Given the description of an element on the screen output the (x, y) to click on. 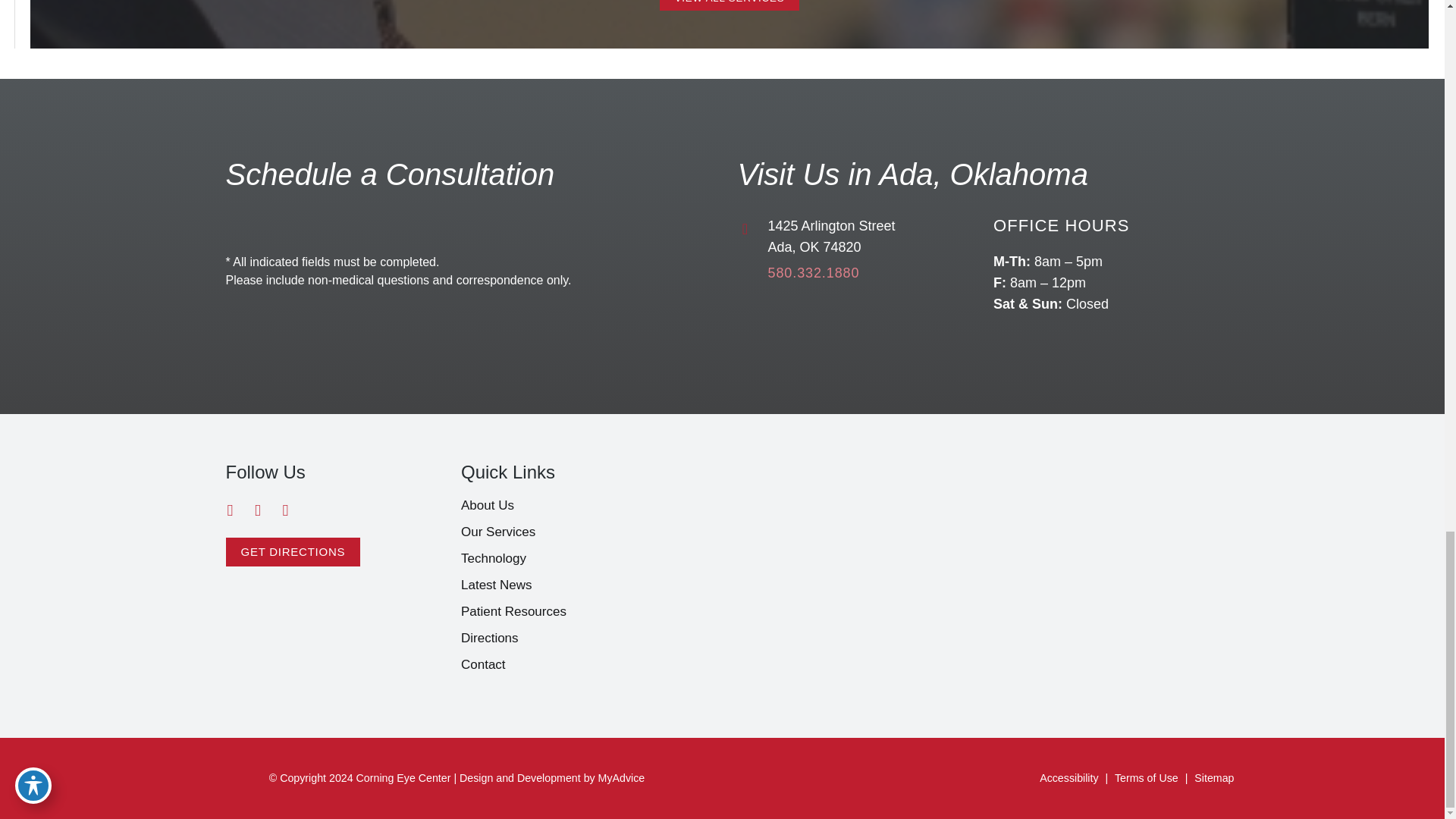
Click Here (729, 5)
Map Location (973, 540)
Click Here (293, 551)
